Given the description of an element on the screen output the (x, y) to click on. 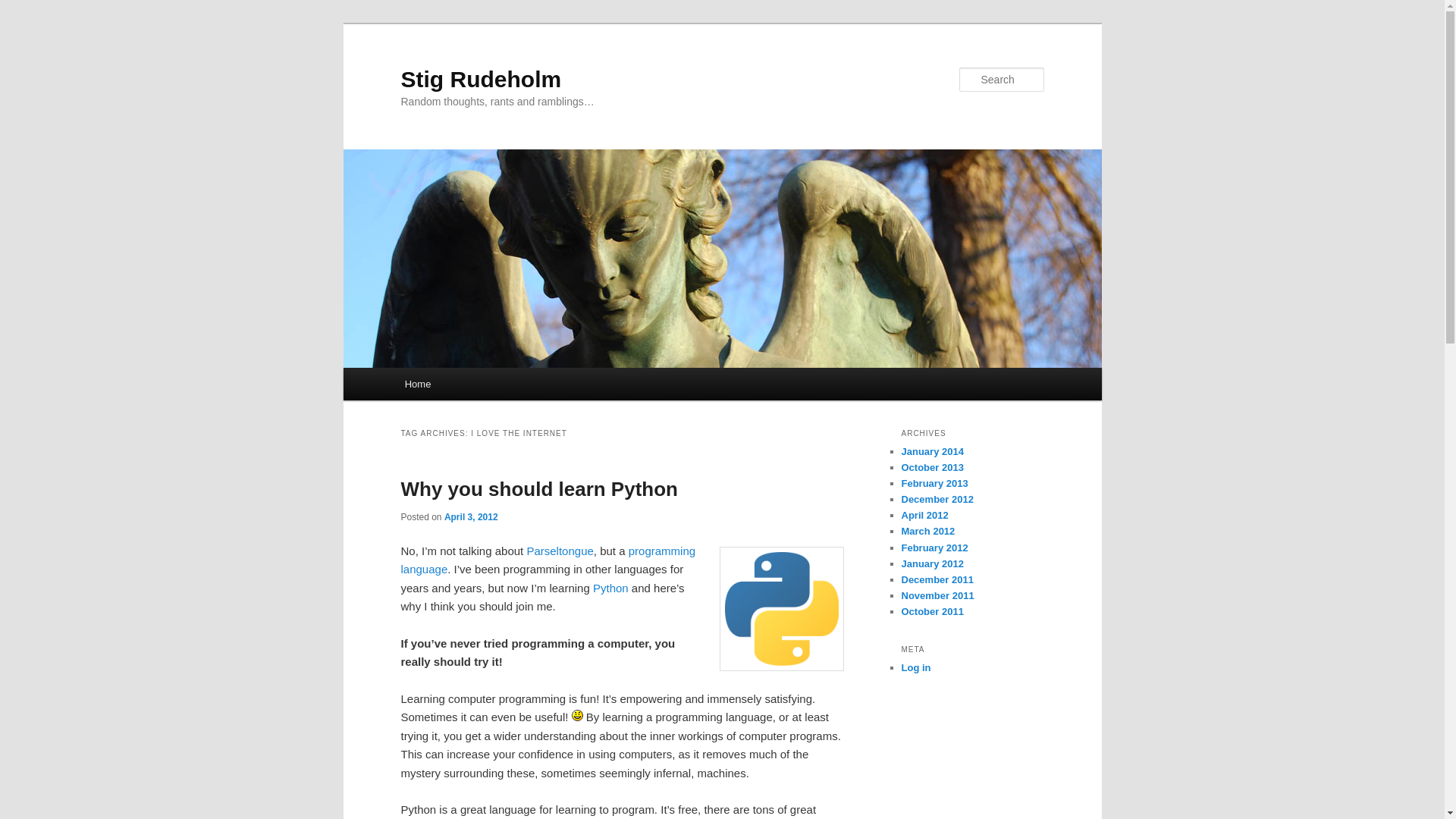
Skip to secondary content (479, 386)
April 3, 2012 (470, 516)
200px-Python-logo-notext.svg (781, 608)
Python (610, 587)
December 2011 (936, 579)
programming language (547, 559)
Stig Rudeholm (480, 78)
October 2013 (931, 467)
Why you should learn Python (538, 488)
Skip to secondary content (479, 386)
December 2012 (936, 499)
January 2014 (931, 451)
Parseltongue (558, 550)
January 2012 (931, 563)
Skip to primary content (472, 386)
